Given the description of an element on the screen output the (x, y) to click on. 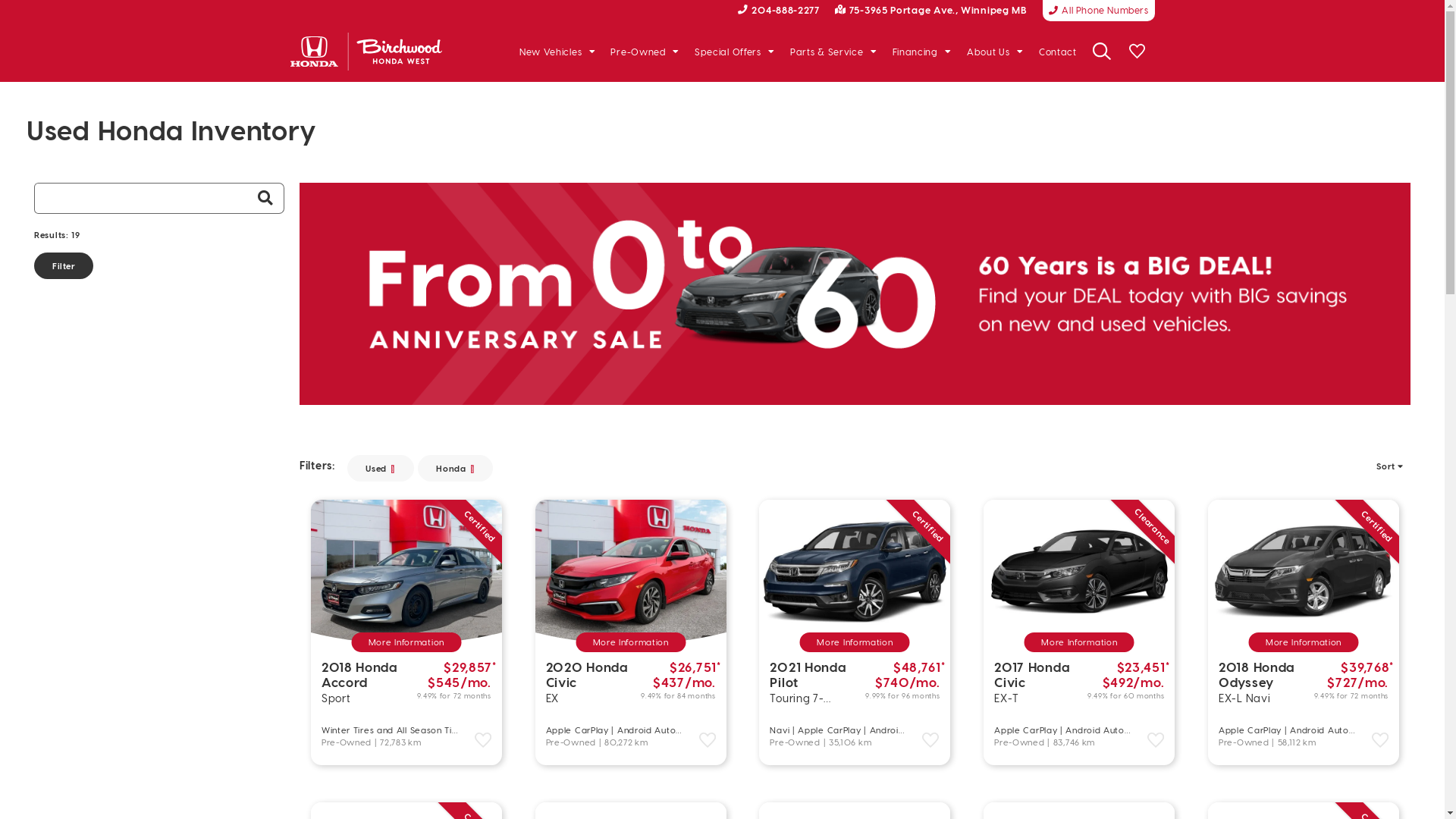
My Vehicles Element type: text (1136, 51)
Search Element type: text (265, 197)
Special Offers Element type: text (734, 51)
Pre-Owned Element type: text (644, 51)
204-888-2277 Element type: text (778, 9)
Honda Element type: text (454, 468)
75-3965 Portage Ave. Winnipeg MB Element type: text (930, 9)
All Phone Numbers Element type: text (1098, 10)
Used Element type: text (380, 468)
Filter Element type: text (63, 265)
Parts & Service Element type: text (833, 51)
New Vehicles Element type: text (557, 51)
About Us Element type: text (995, 51)
Financing Element type: text (922, 51)
Contact Element type: text (1057, 51)
